Given the description of an element on the screen output the (x, y) to click on. 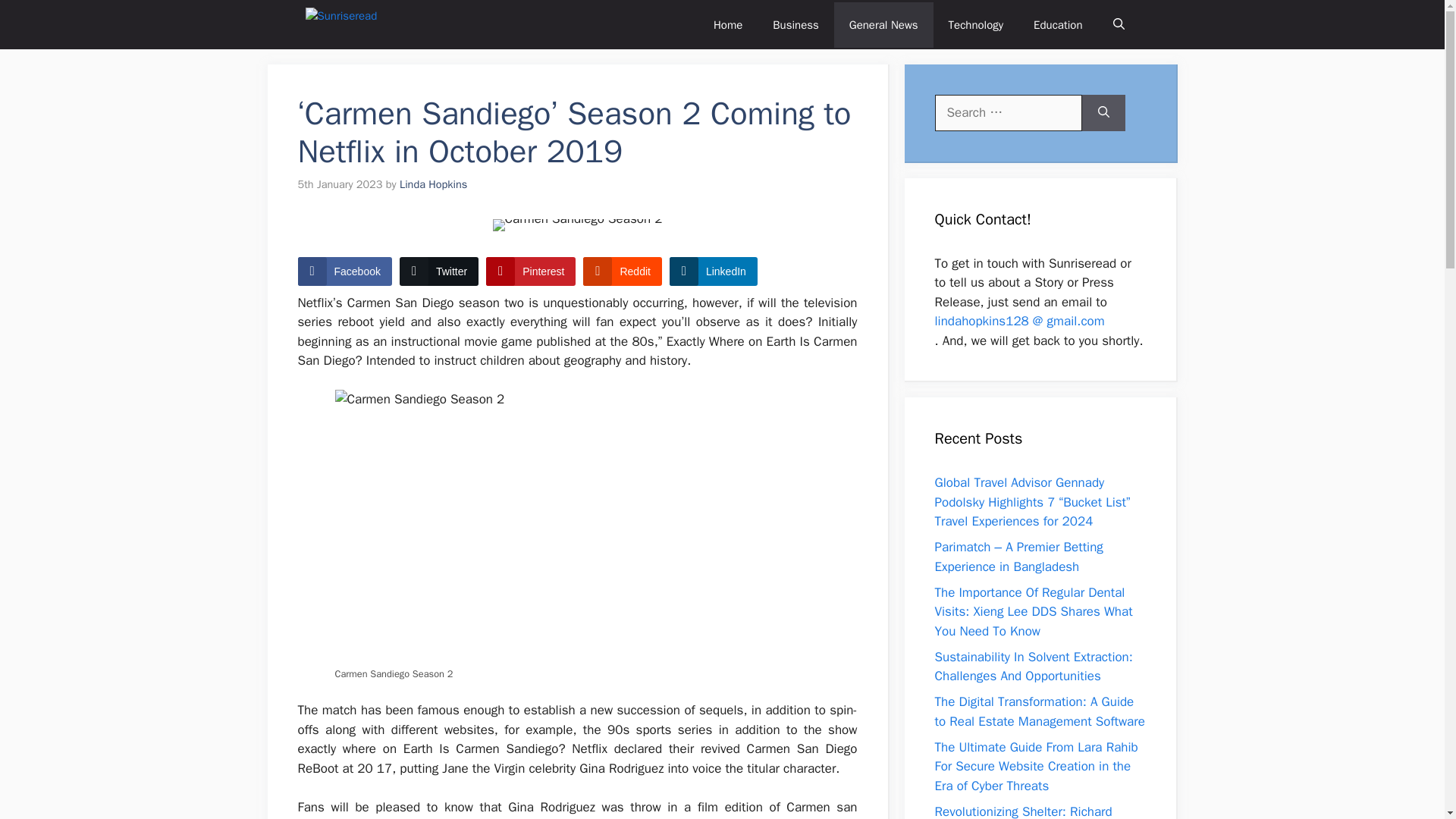
Pinterest (530, 271)
Sunriseread (355, 24)
Home (727, 23)
LinkedIn (713, 271)
Search for: (1007, 113)
Education (1057, 23)
Business (795, 23)
View all posts by Linda Hopkins (432, 183)
Technology (976, 23)
